Given the description of an element on the screen output the (x, y) to click on. 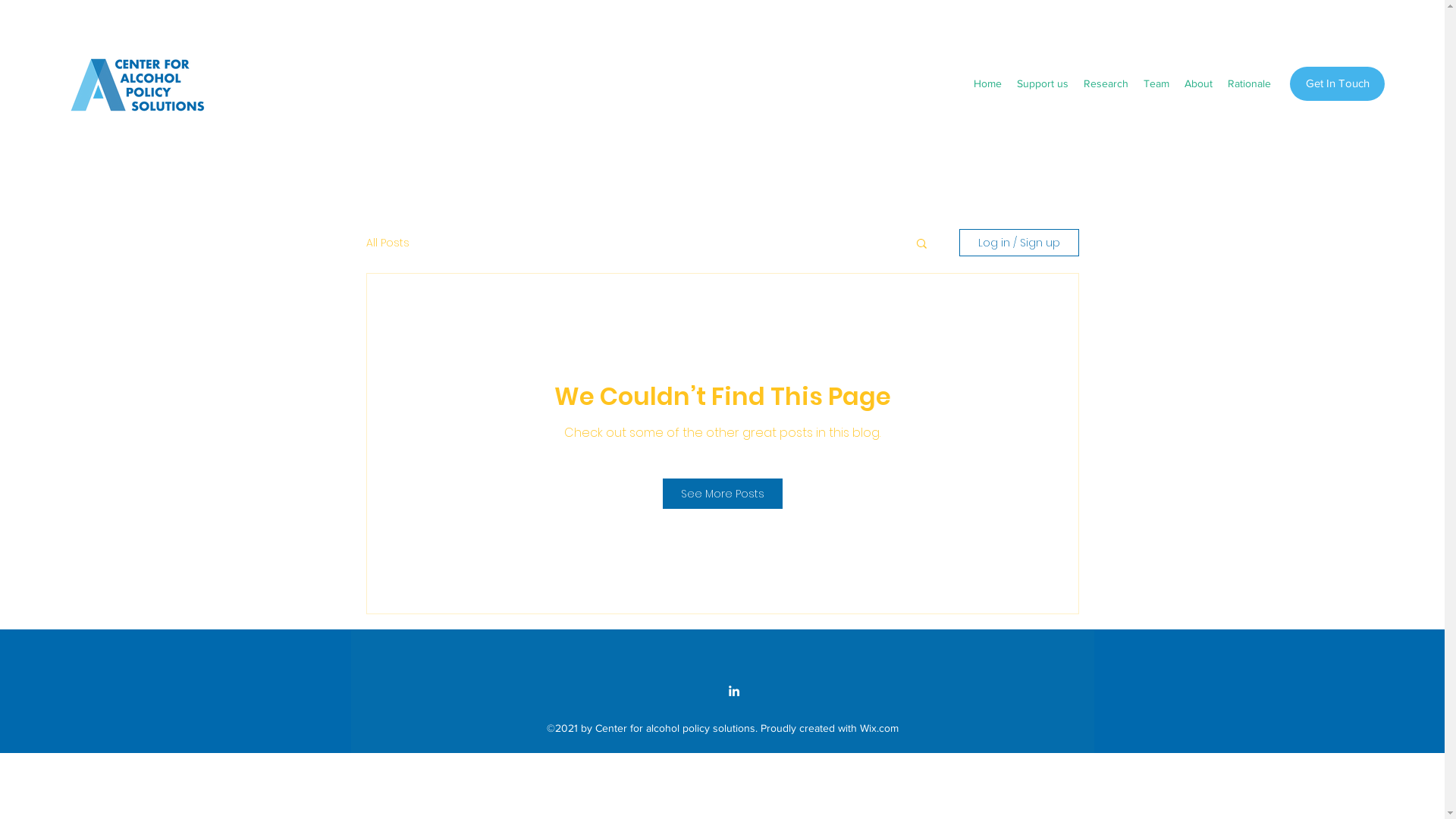
Rationale Element type: text (1249, 83)
Research Element type: text (1105, 83)
Get In Touch Element type: text (1336, 83)
All Posts Element type: text (386, 243)
Log in / Sign up Element type: text (1018, 242)
About Element type: text (1198, 83)
Team Element type: text (1155, 83)
Home Element type: text (987, 83)
Support us Element type: text (1042, 83)
See More Posts Element type: text (722, 493)
